Given the description of an element on the screen output the (x, y) to click on. 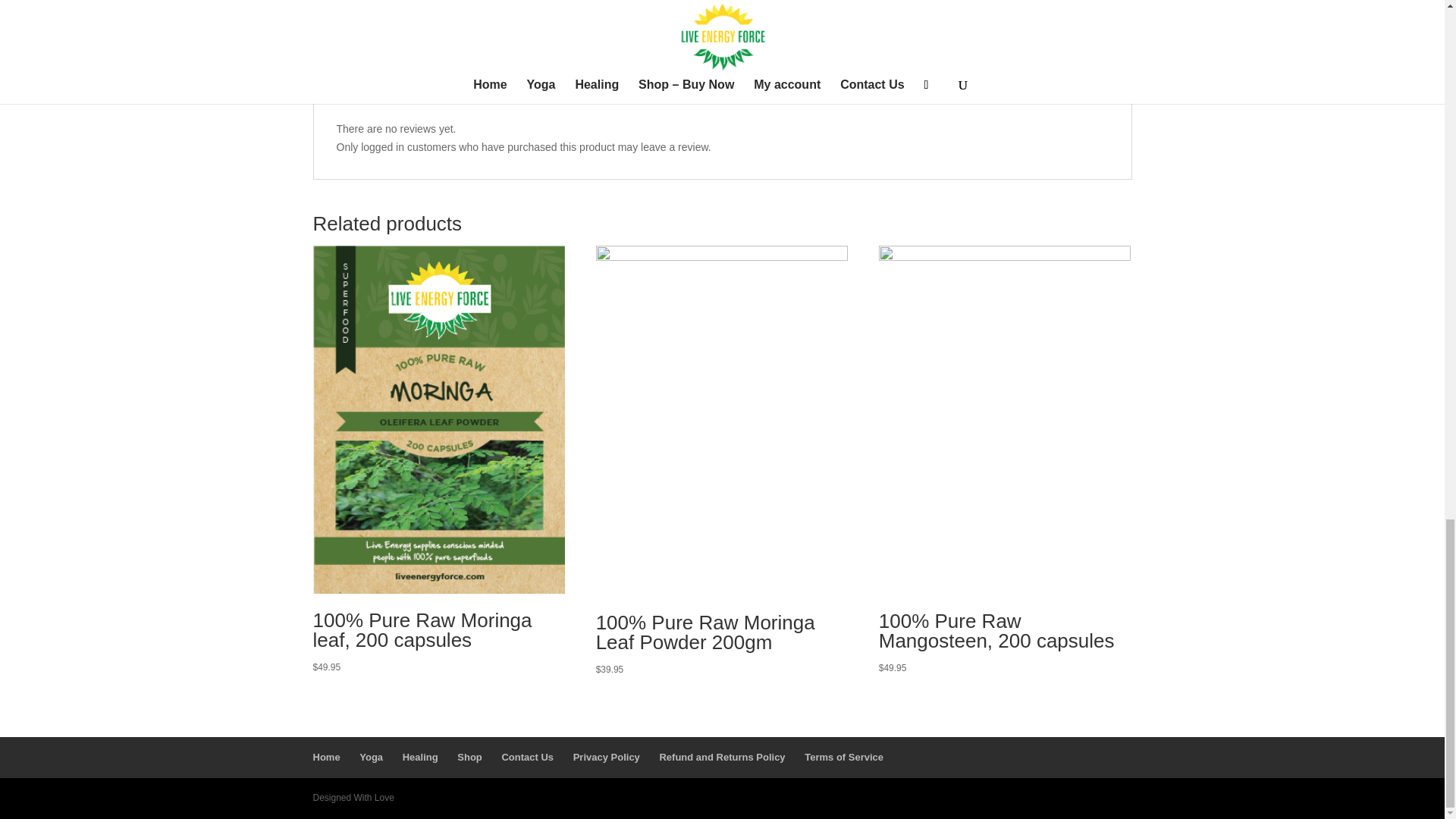
Contact Us (526, 756)
Shop (469, 756)
Healing (420, 756)
Home (326, 756)
Yoga (370, 756)
Privacy Policy (606, 756)
Refund and Returns Policy (721, 756)
Terms of Service (844, 756)
